Given the description of an element on the screen output the (x, y) to click on. 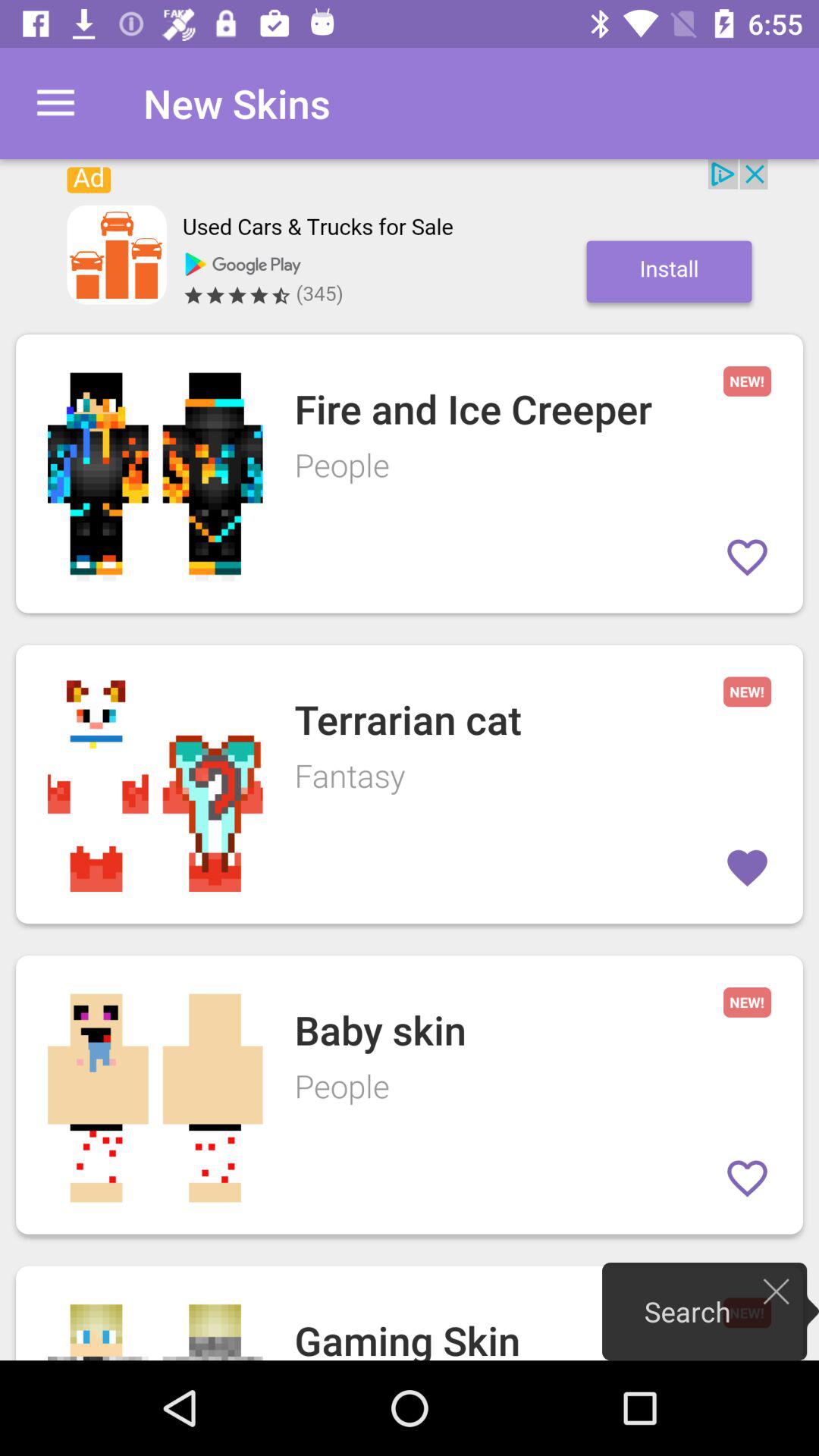
advertisement link (409, 238)
